Given the description of an element on the screen output the (x, y) to click on. 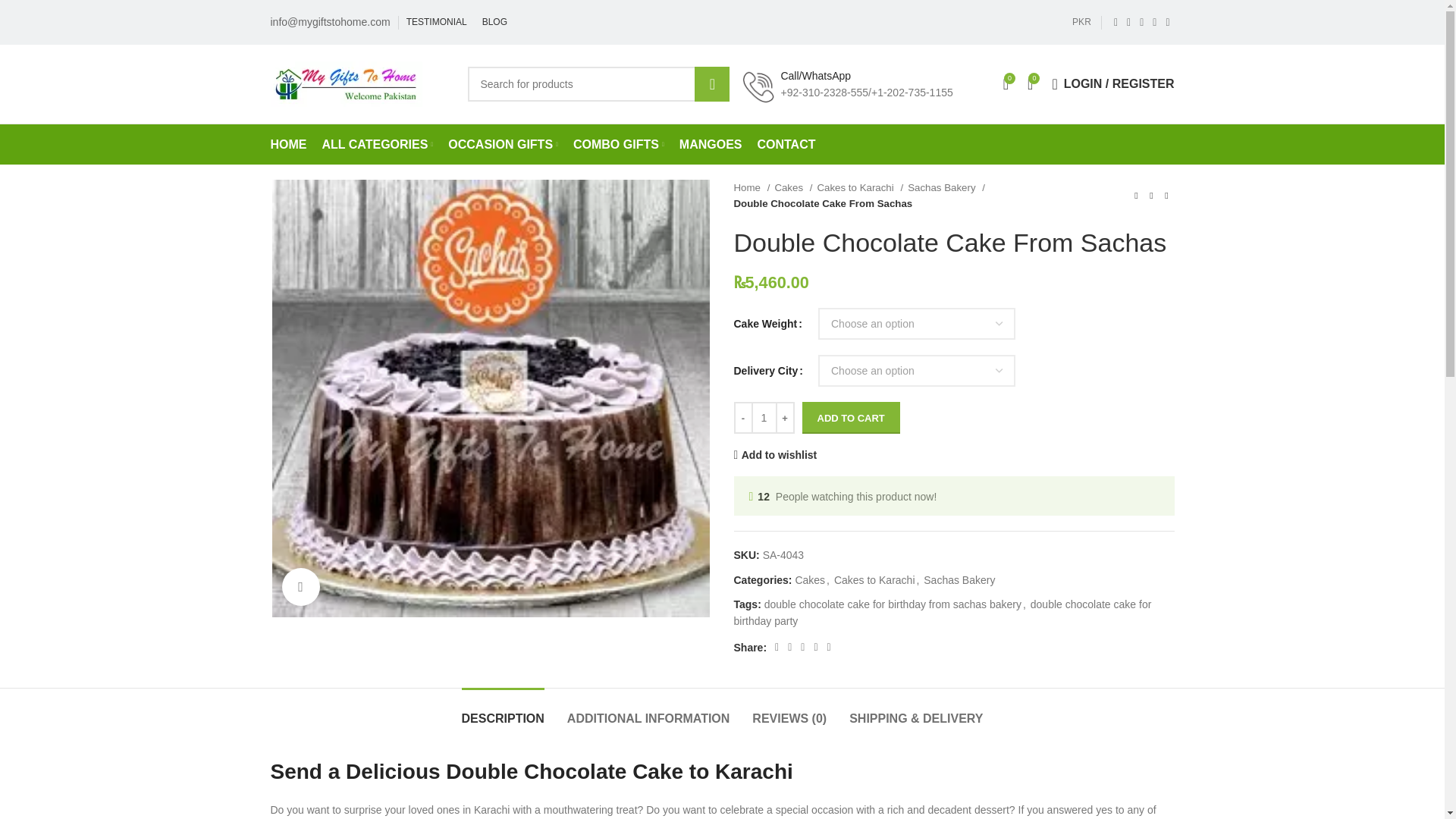
TESTIMONIAL (436, 22)
SEARCH (711, 83)
ALL CATEGORIES (376, 143)
Log in (1049, 342)
HOME (287, 143)
Search for products (598, 83)
My account (1111, 83)
